Given the description of an element on the screen output the (x, y) to click on. 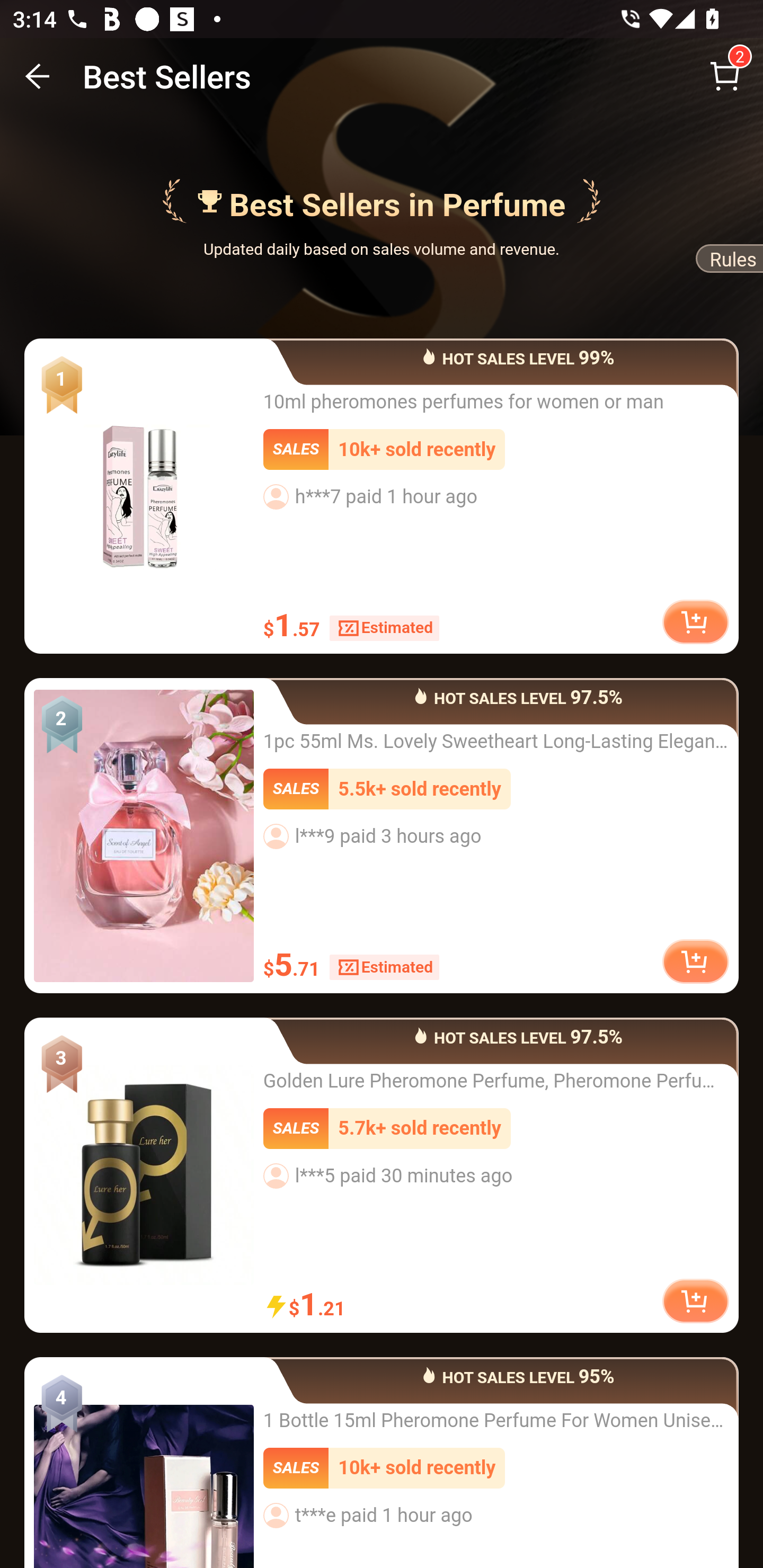
BACK (38, 75)
Cart 2 (724, 75)
Rules (727, 261)
10ml pheromones perfumes for women or man (143, 495)
add to cart (695, 621)
add to cart (695, 960)
add to cart (695, 1300)
